Given the description of an element on the screen output the (x, y) to click on. 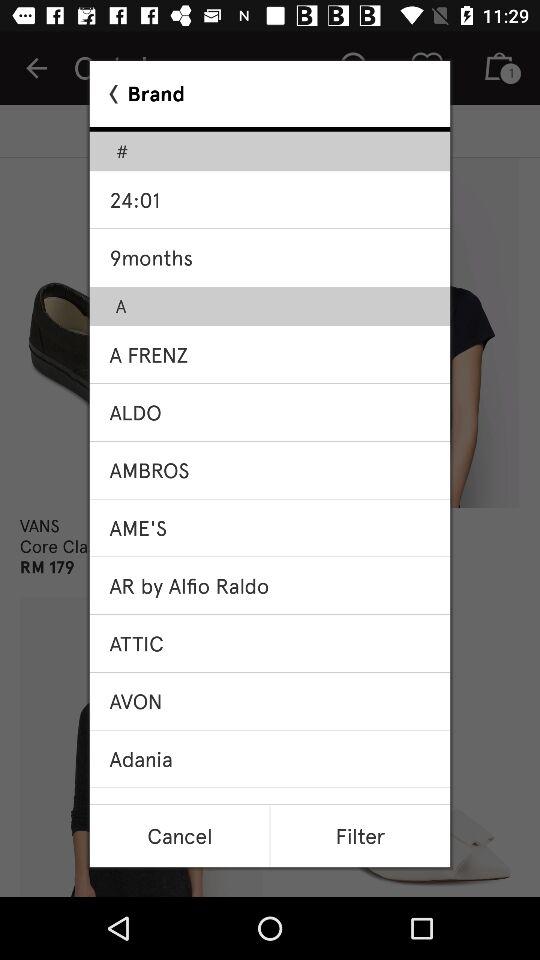
launch filter item (360, 836)
